Given the description of an element on the screen output the (x, y) to click on. 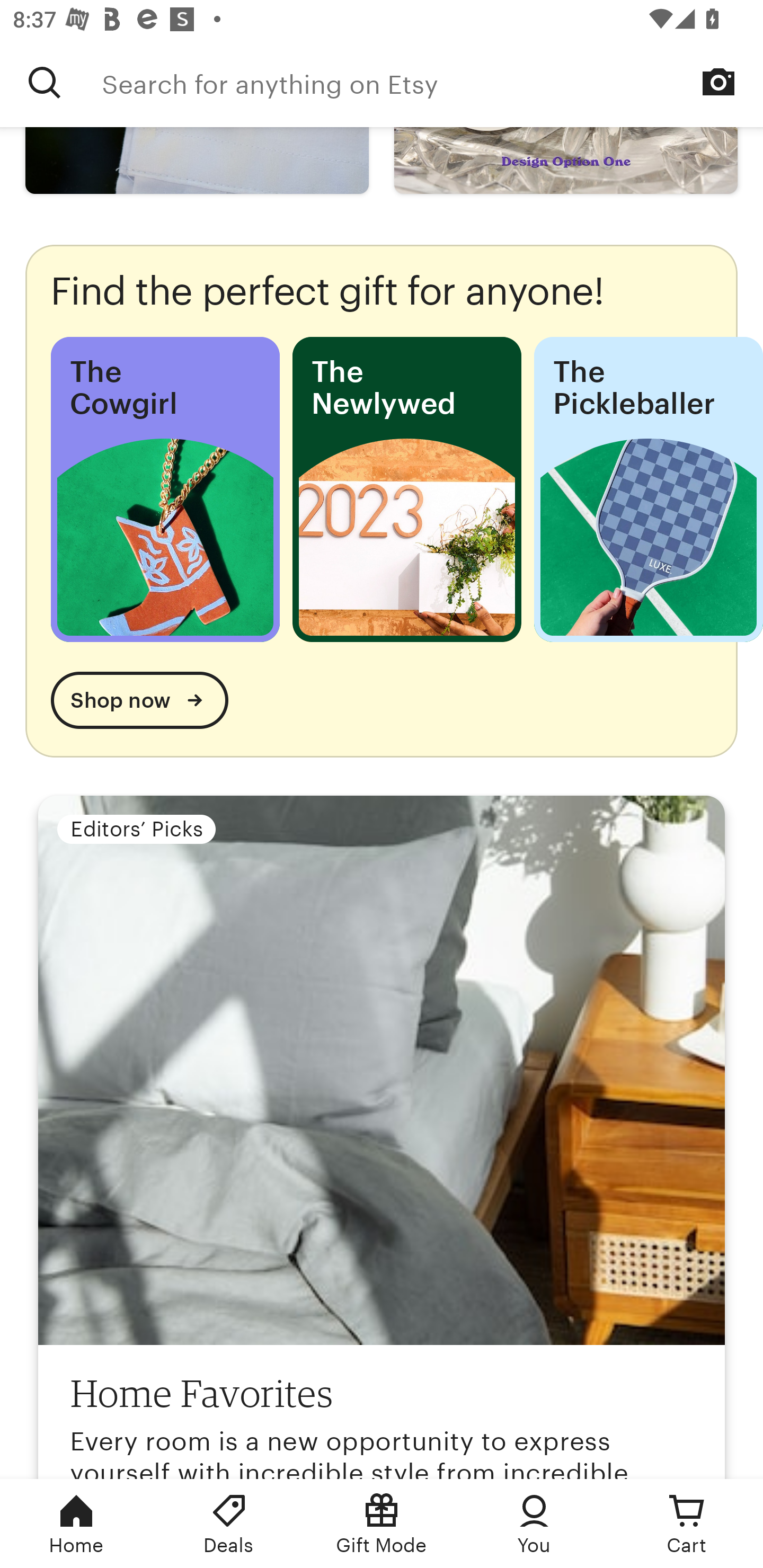
Search for anything on Etsy (44, 82)
Search by image (718, 81)
Search for anything on Etsy (432, 82)
Find the perfect gift for anyone! Shop now (381, 500)
The Cowgirl (165, 489)
The Newlywed (406, 489)
The Pickleballer (648, 489)
Shop now (139, 699)
Deals (228, 1523)
Gift Mode (381, 1523)
You (533, 1523)
Cart (686, 1523)
